Given the description of an element on the screen output the (x, y) to click on. 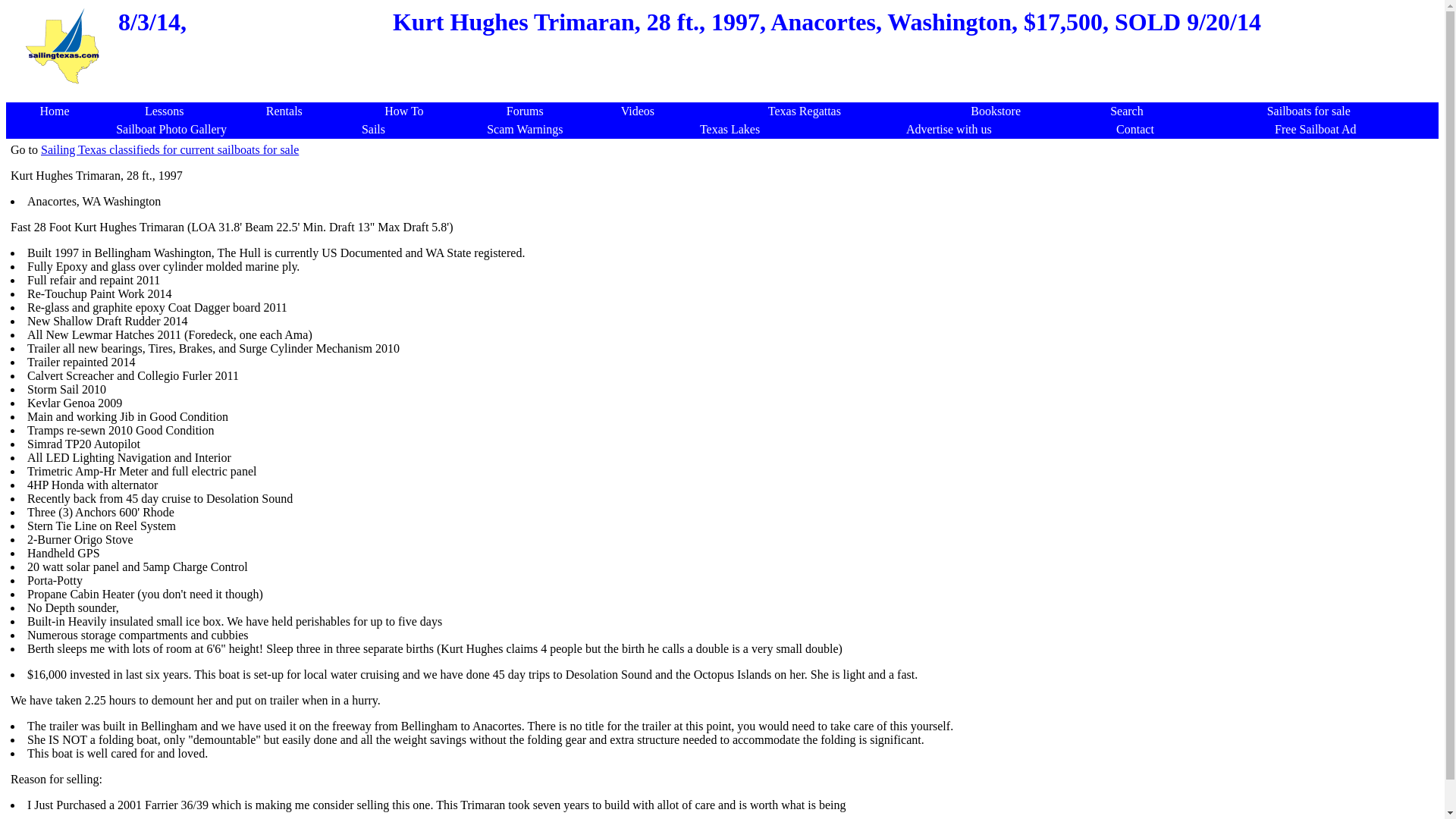
Sailboats for sale (1308, 110)
Rentals (284, 110)
Forums (524, 110)
How To (403, 110)
Search (1125, 110)
Sailboat Photo Gallery (171, 128)
Sailing Texas classifieds for current sailboats for sale (169, 149)
Home (53, 110)
Bookstore (995, 110)
Advertise with us (948, 128)
Lessons (164, 110)
Contact (1135, 128)
Free Sailboat Ad (1315, 128)
Scam Warnings (524, 128)
Videos (637, 110)
